Given the description of an element on the screen output the (x, y) to click on. 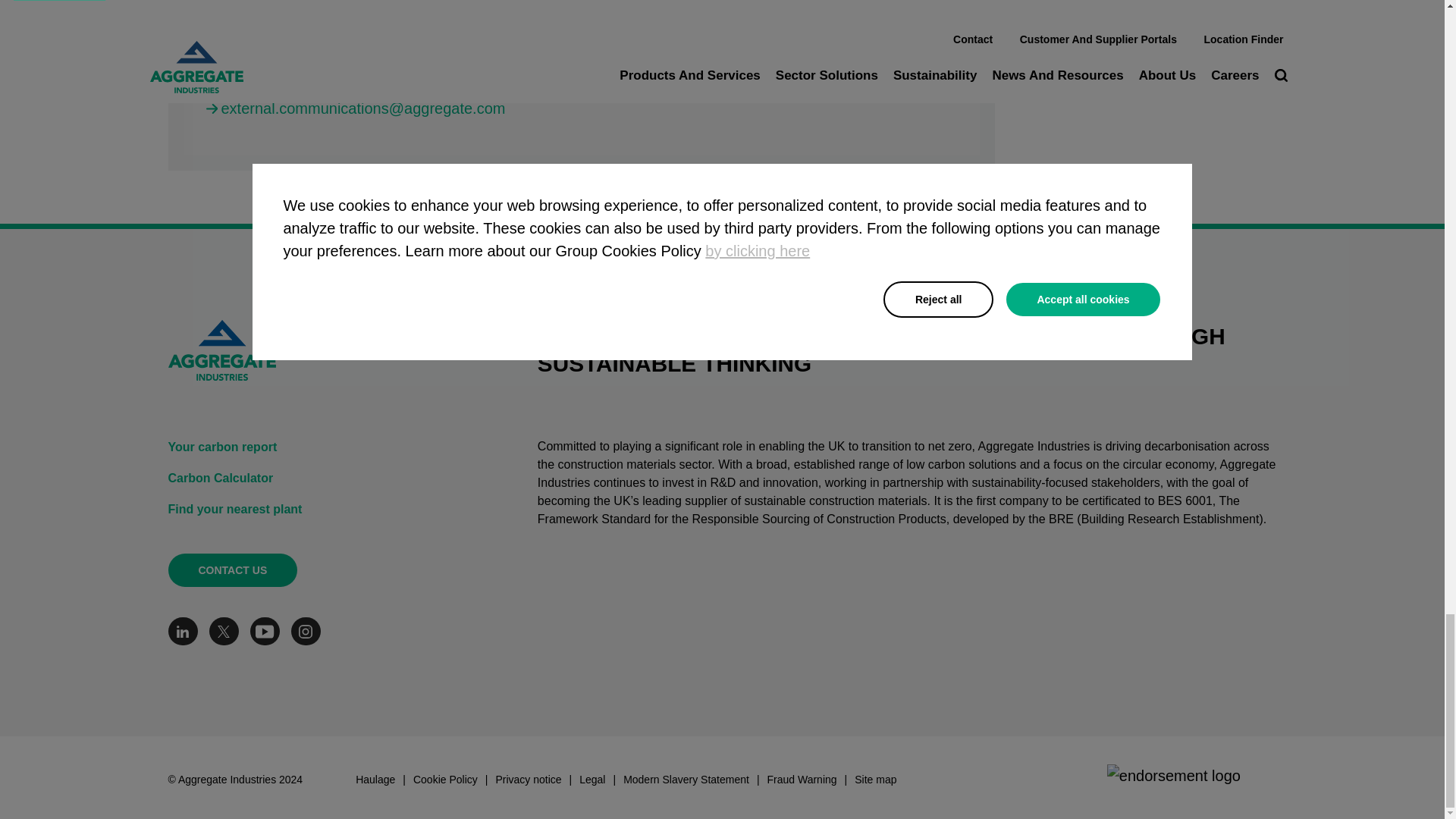
Find your nearest plant (316, 509)
Your carbon report (316, 447)
CONTACT US (233, 570)
Carbon Calculator (316, 478)
